Given the description of an element on the screen output the (x, y) to click on. 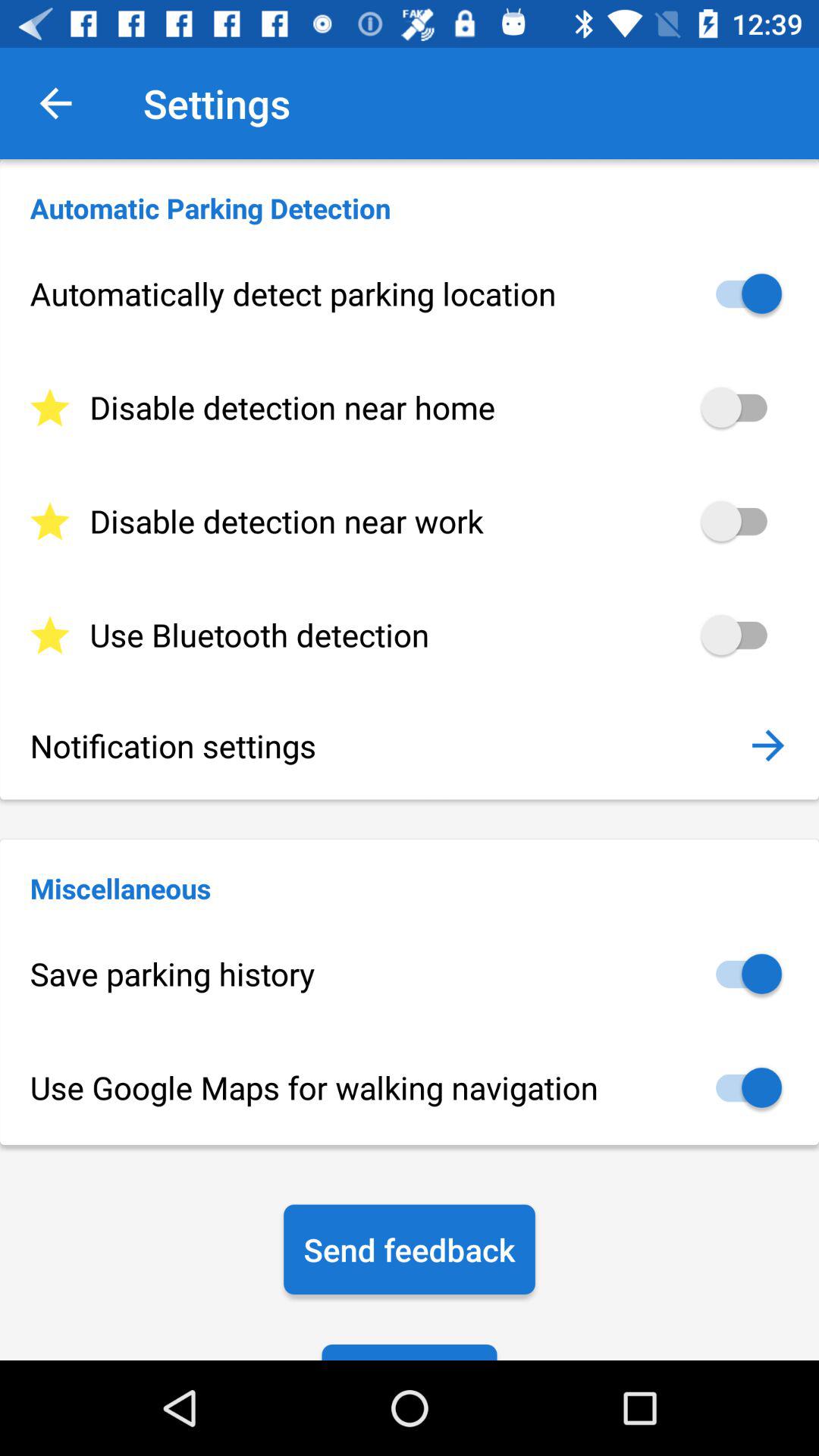
tap the icon above the miscellaneous icon (767, 745)
